Given the description of an element on the screen output the (x, y) to click on. 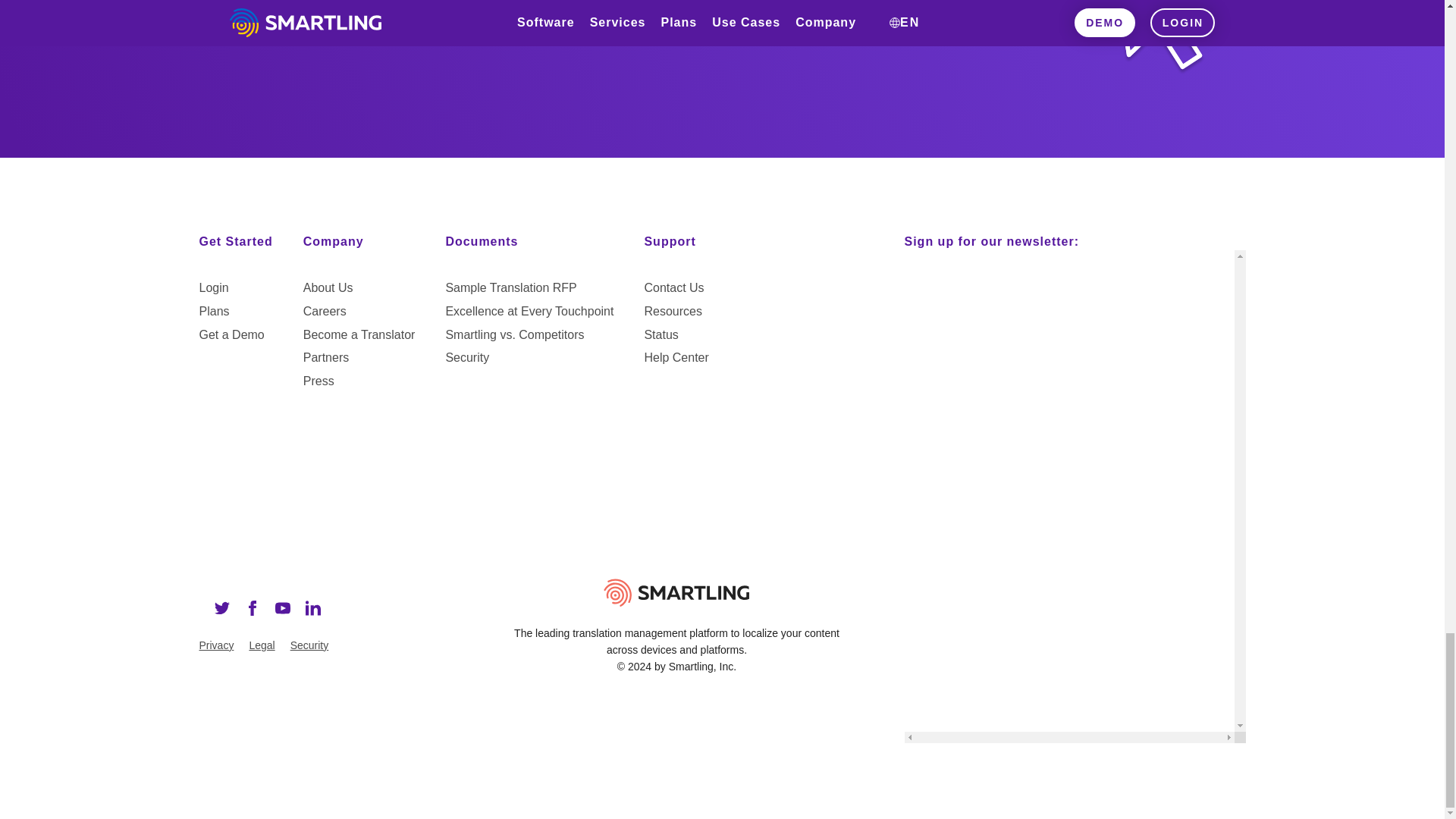
Pardot Form (1068, 306)
